Given the description of an element on the screen output the (x, y) to click on. 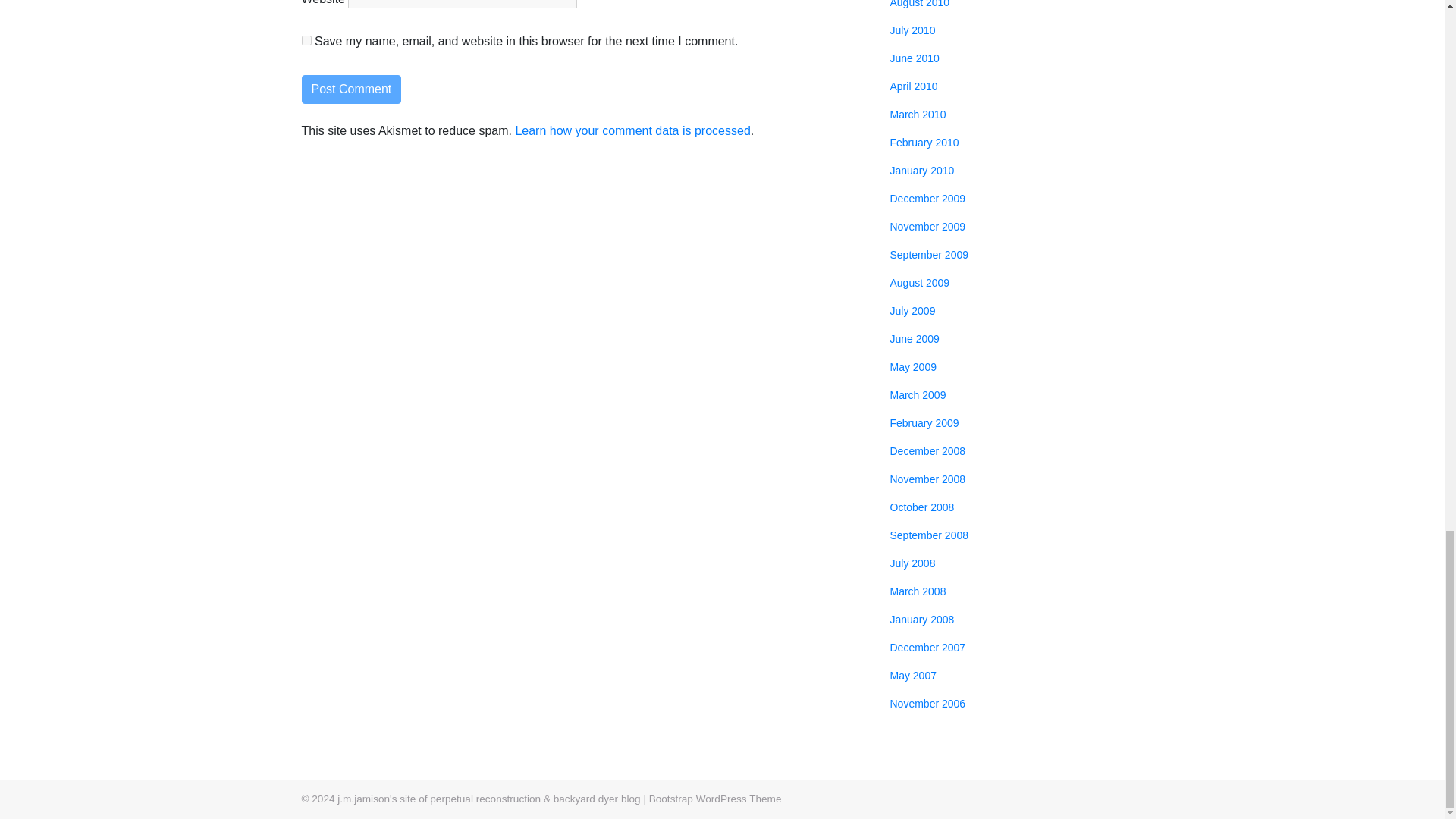
Post Comment (351, 89)
yes (306, 40)
Post Comment (351, 89)
Learn how your comment data is processed (632, 130)
WordPress Technical Support (715, 798)
